Given the description of an element on the screen output the (x, y) to click on. 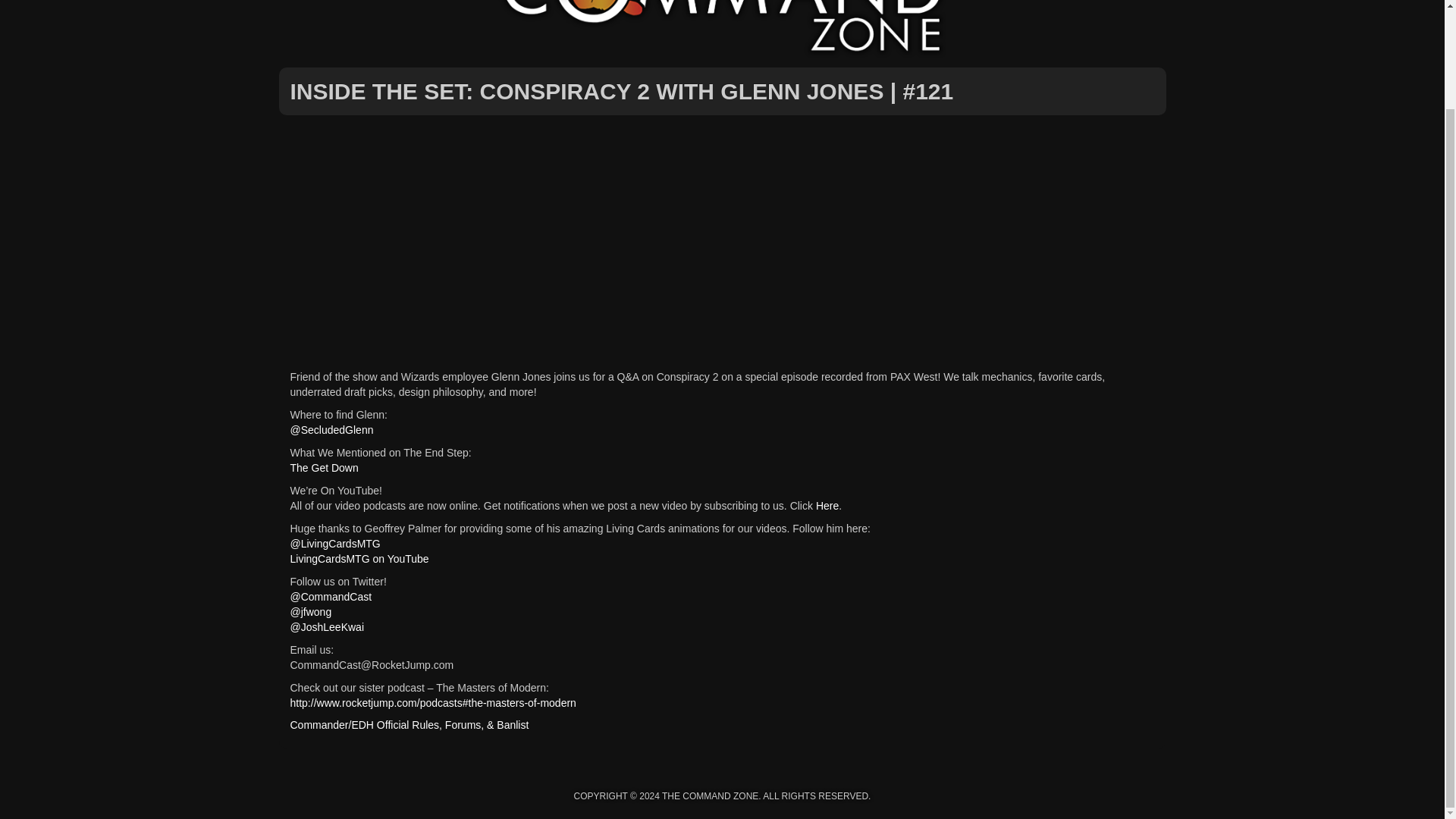
Here (826, 505)
LivingCardsMTG on YouTube (358, 558)
The Get Down (323, 467)
